Given the description of an element on the screen output the (x, y) to click on. 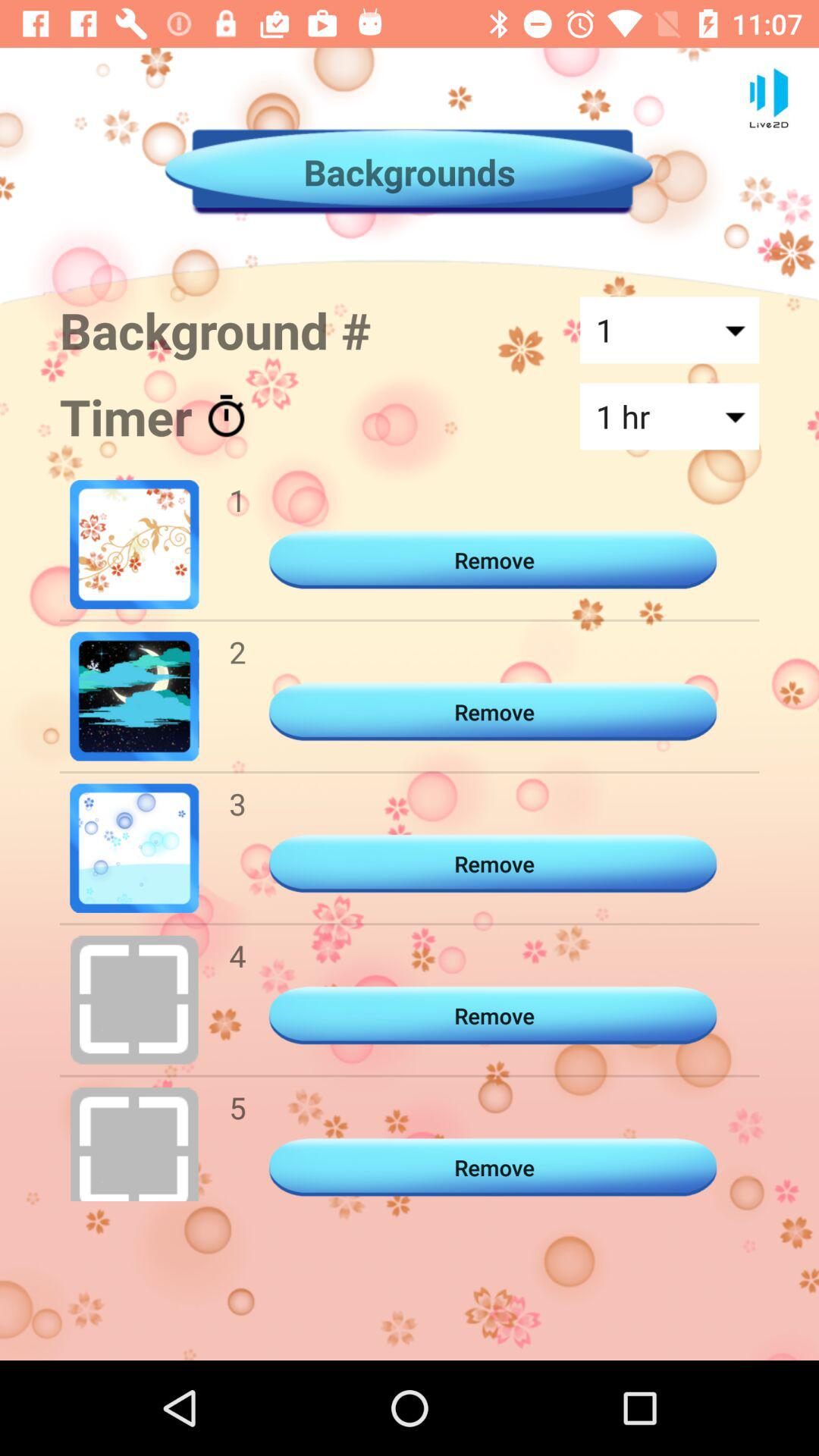
tap the icon to the left of remove (237, 1107)
